Given the description of an element on the screen output the (x, y) to click on. 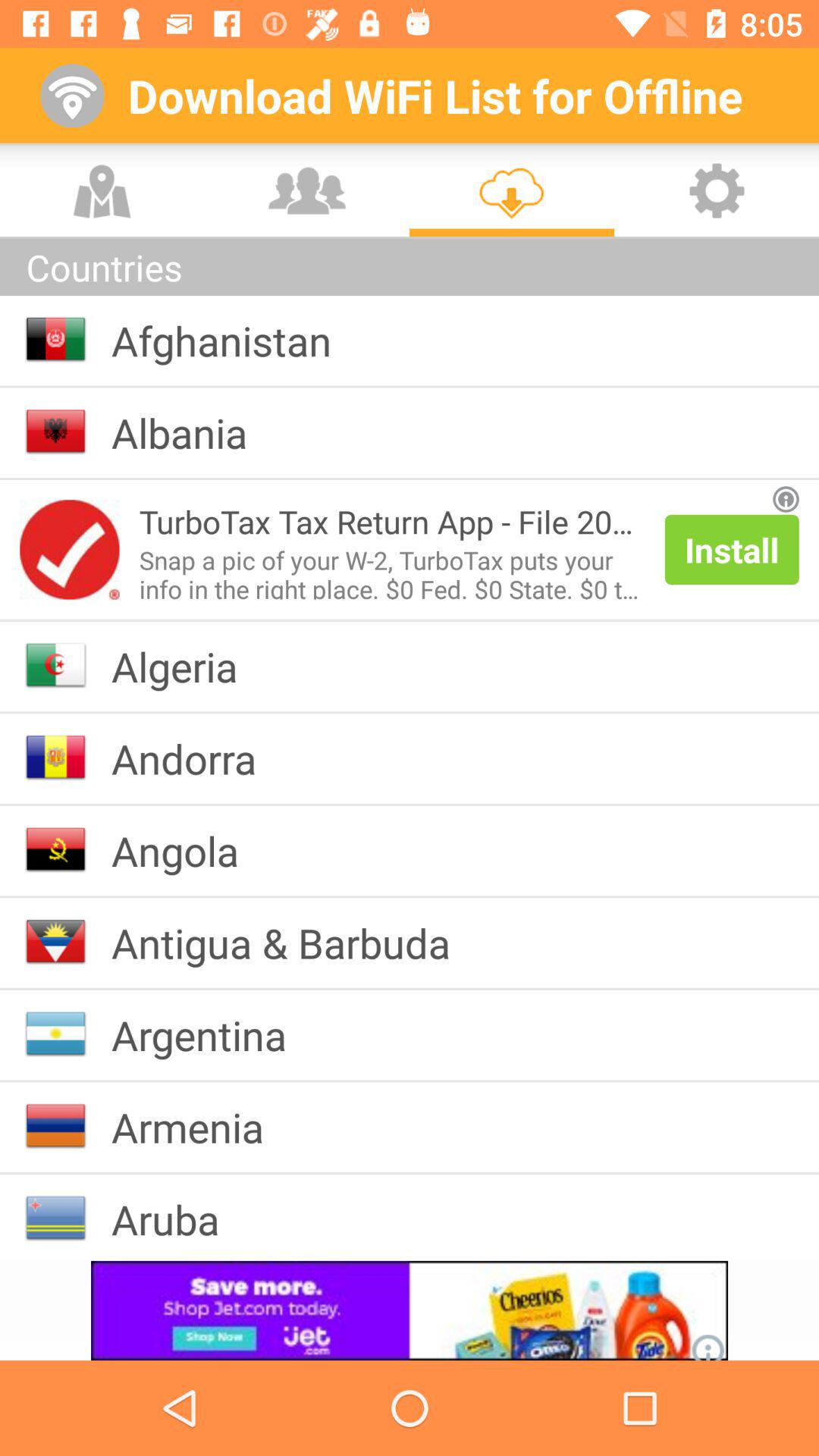
tap the antigua & barbuda app (292, 942)
